Given the description of an element on the screen output the (x, y) to click on. 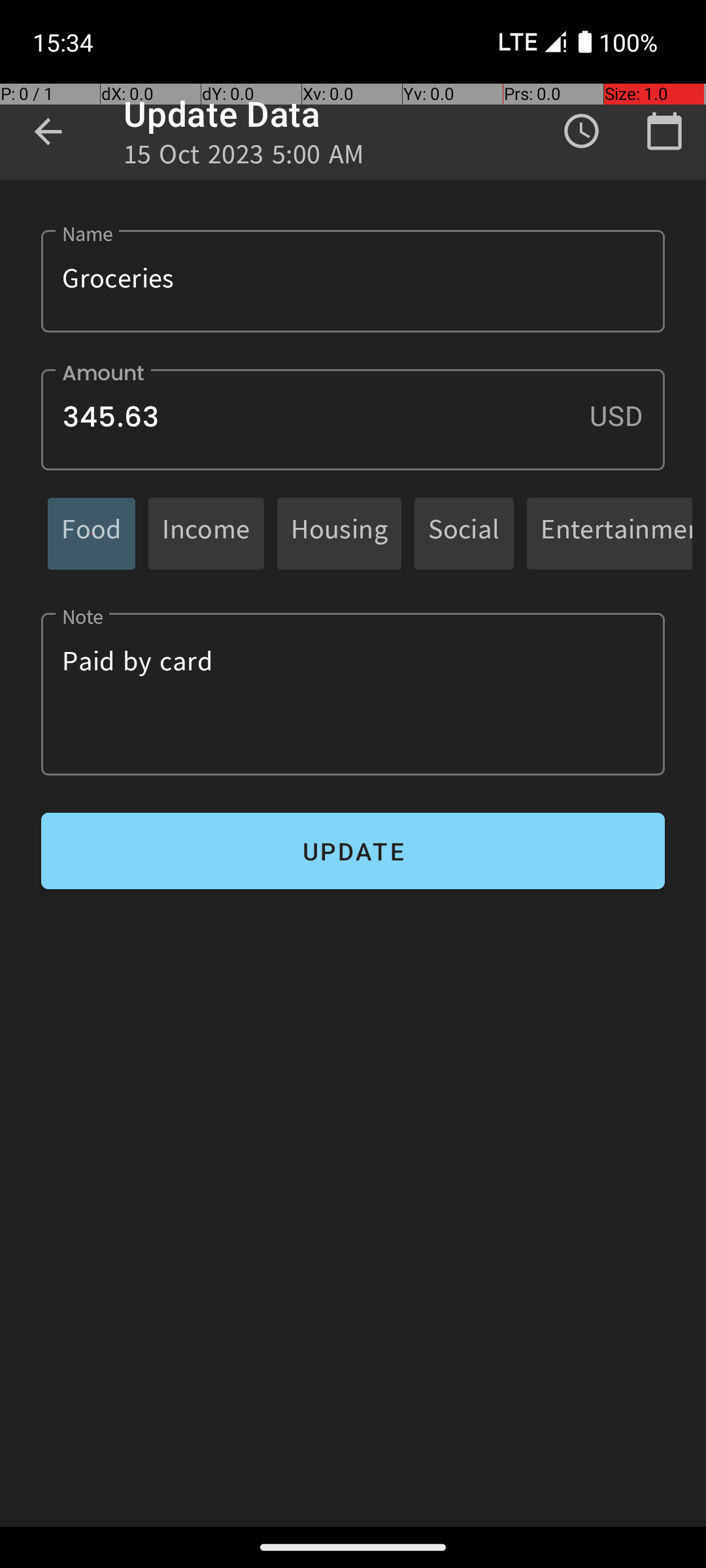
15 Oct 2023 5:00 AM Element type: android.widget.TextView (243, 157)
Groceries Element type: android.widget.EditText (352, 280)
345.63 Element type: android.widget.EditText (352, 419)
Paid by card Element type: android.widget.EditText (352, 693)
